Given the description of an element on the screen output the (x, y) to click on. 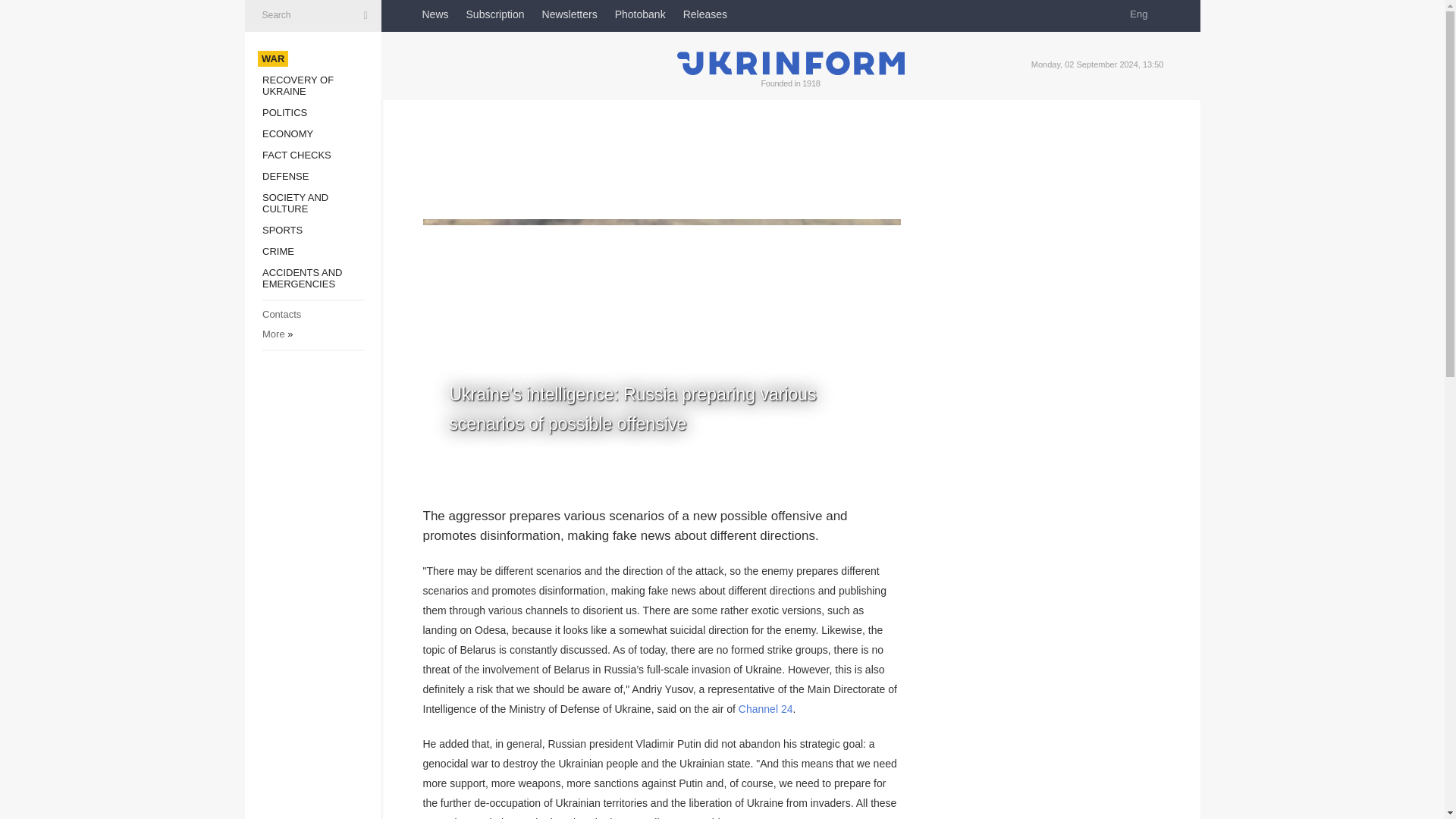
DEFENSE (285, 175)
Photobank (639, 14)
Eng (1143, 14)
RECOVERY OF UKRAINE (297, 85)
SOCIETY AND CULTURE (295, 202)
FACT CHECKS (296, 154)
Releases (704, 14)
POLITICS (284, 112)
Contacts (281, 314)
Subscription (494, 14)
